Given the description of an element on the screen output the (x, y) to click on. 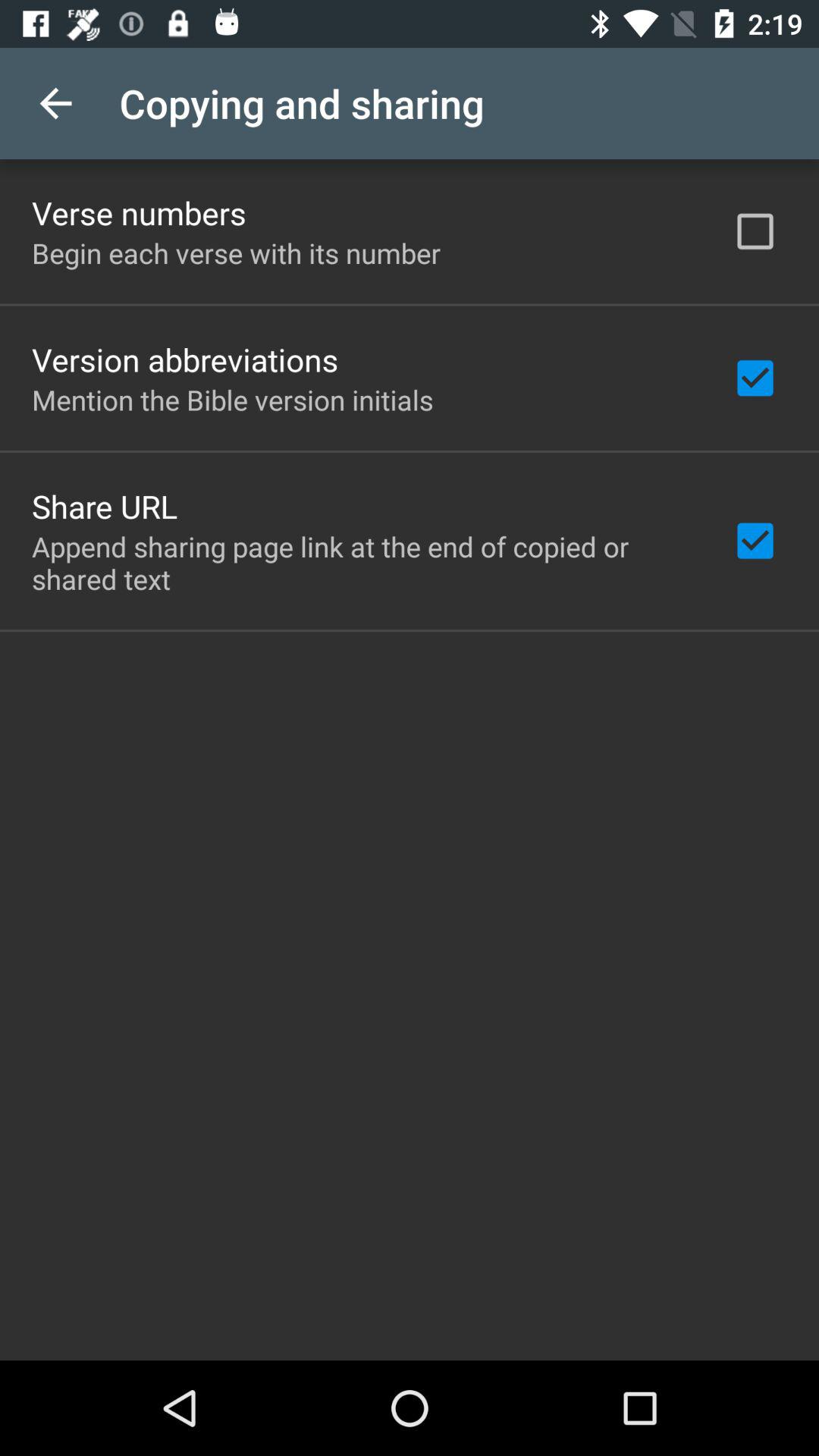
turn on mention the bible (232, 399)
